Given the description of an element on the screen output the (x, y) to click on. 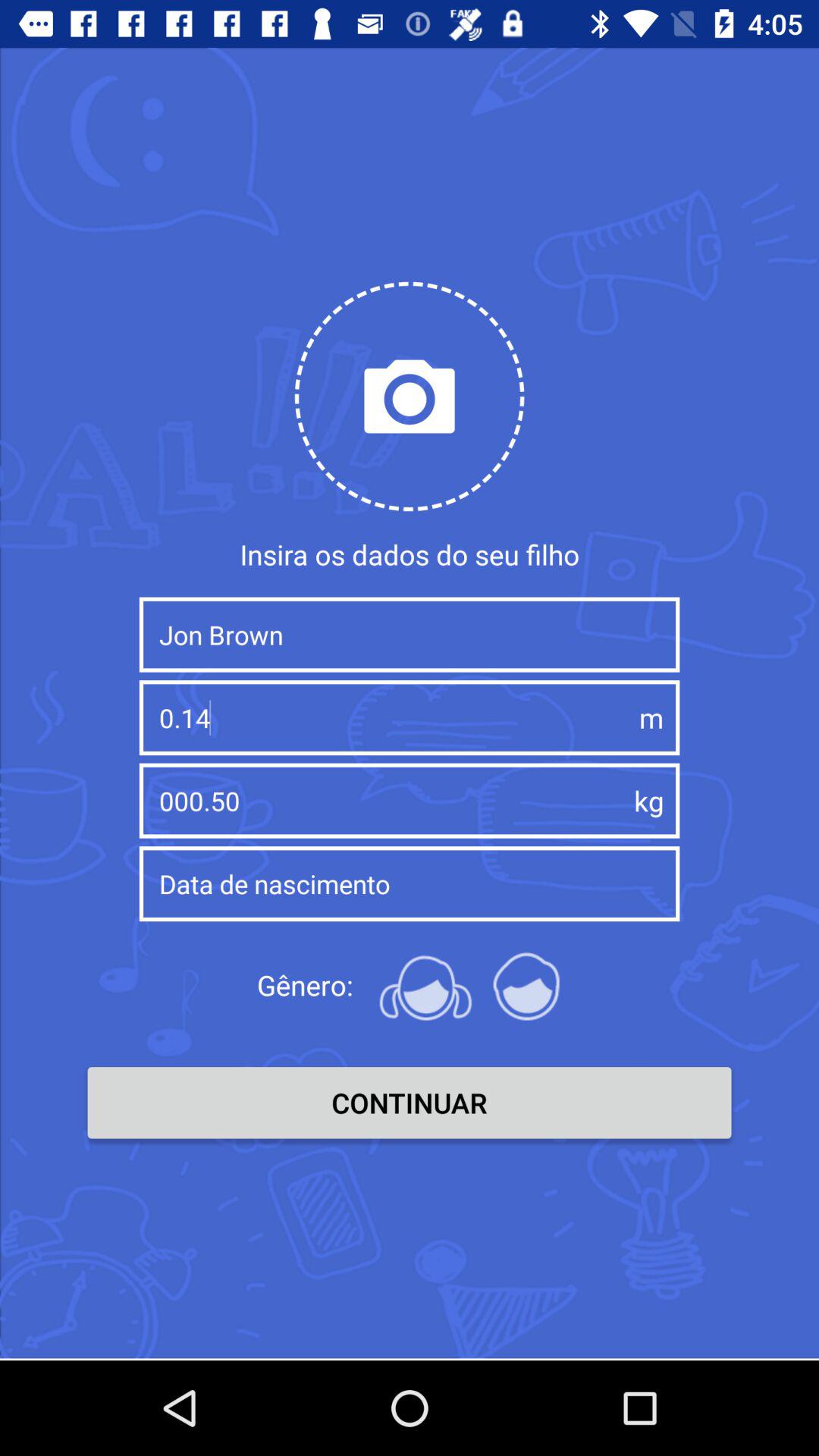
emoji (425, 985)
